Given the description of an element on the screen output the (x, y) to click on. 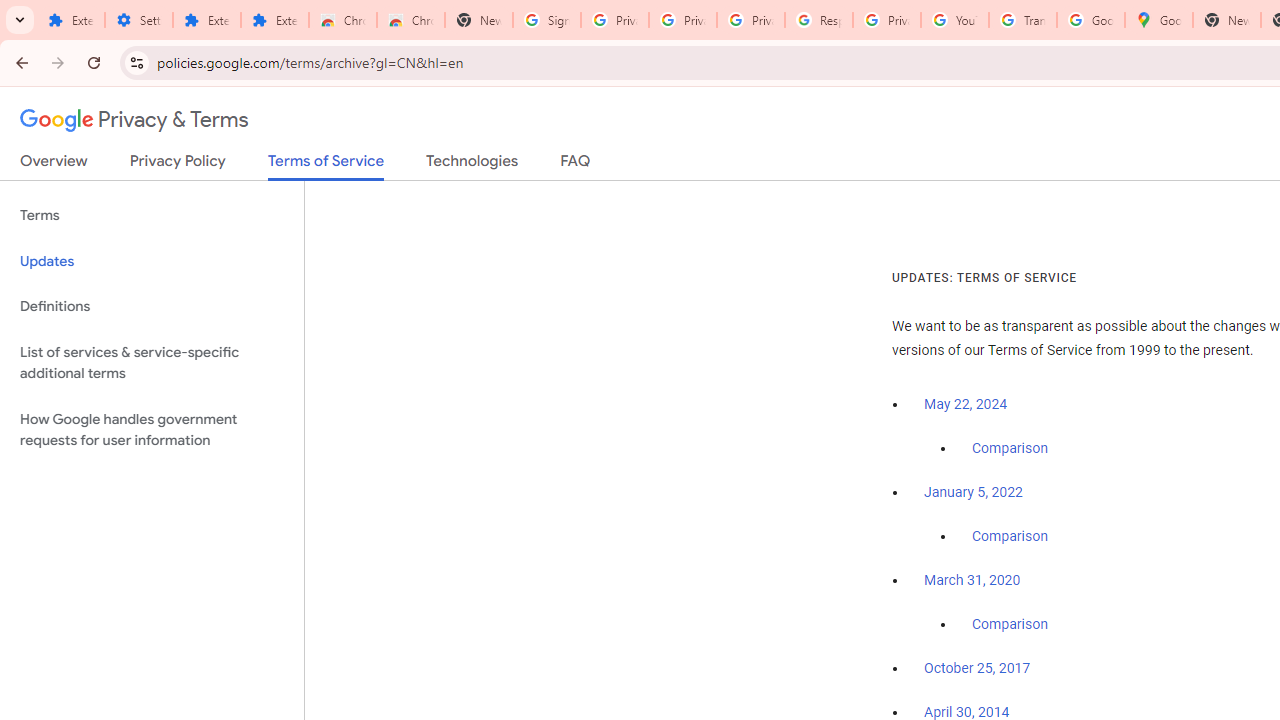
Google Maps (1158, 20)
YouTube (954, 20)
May 22, 2024 (966, 404)
